Given the description of an element on the screen output the (x, y) to click on. 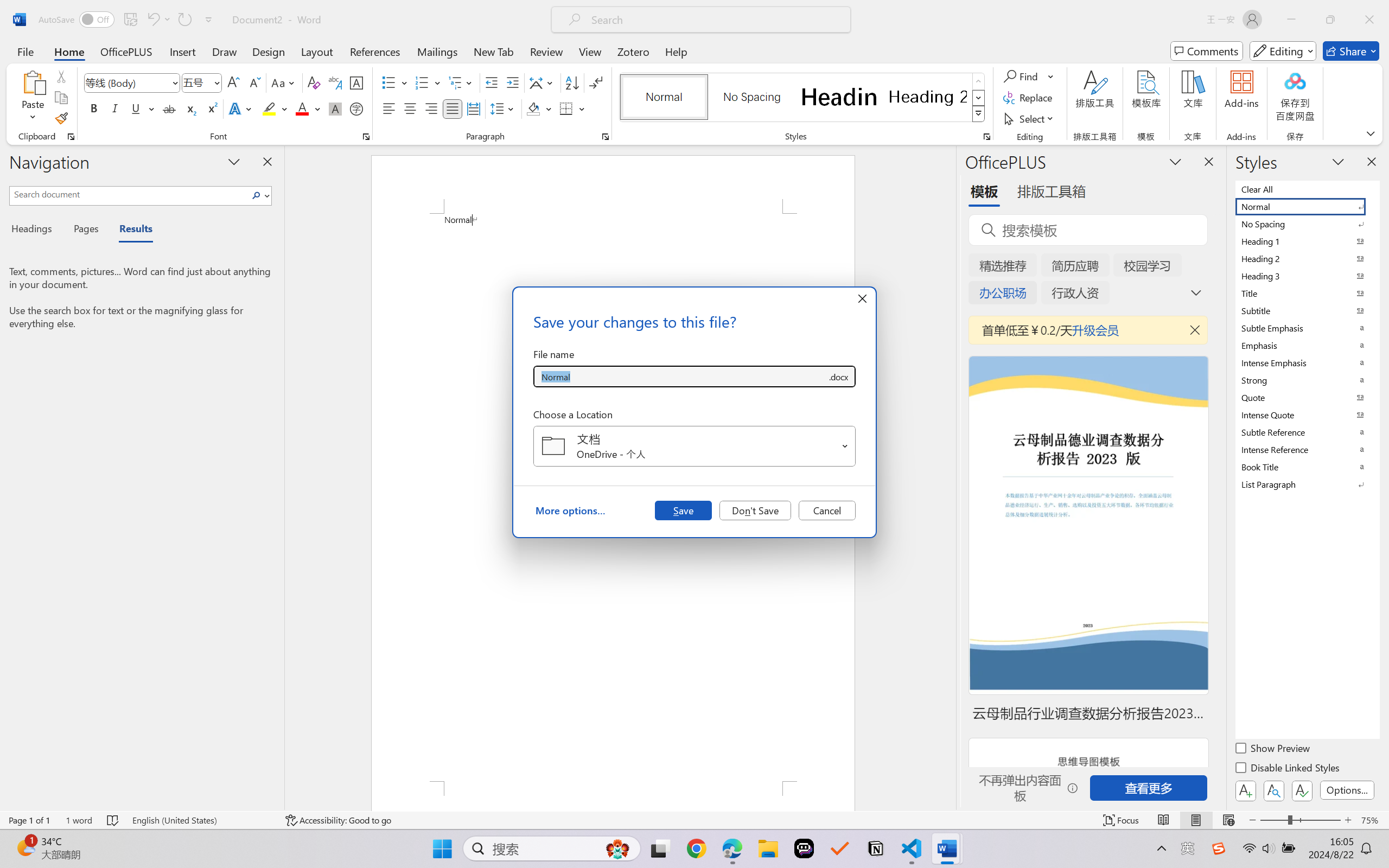
File name (680, 376)
Intense Quote (1306, 414)
Restore Down (1330, 19)
Multilevel List (461, 82)
Text Highlight Color Yellow (269, 108)
Font Color (308, 108)
Search (259, 195)
Intense Emphasis (1306, 362)
Design (268, 51)
Font (132, 82)
Print Layout (1196, 819)
